Given the description of an element on the screen output the (x, y) to click on. 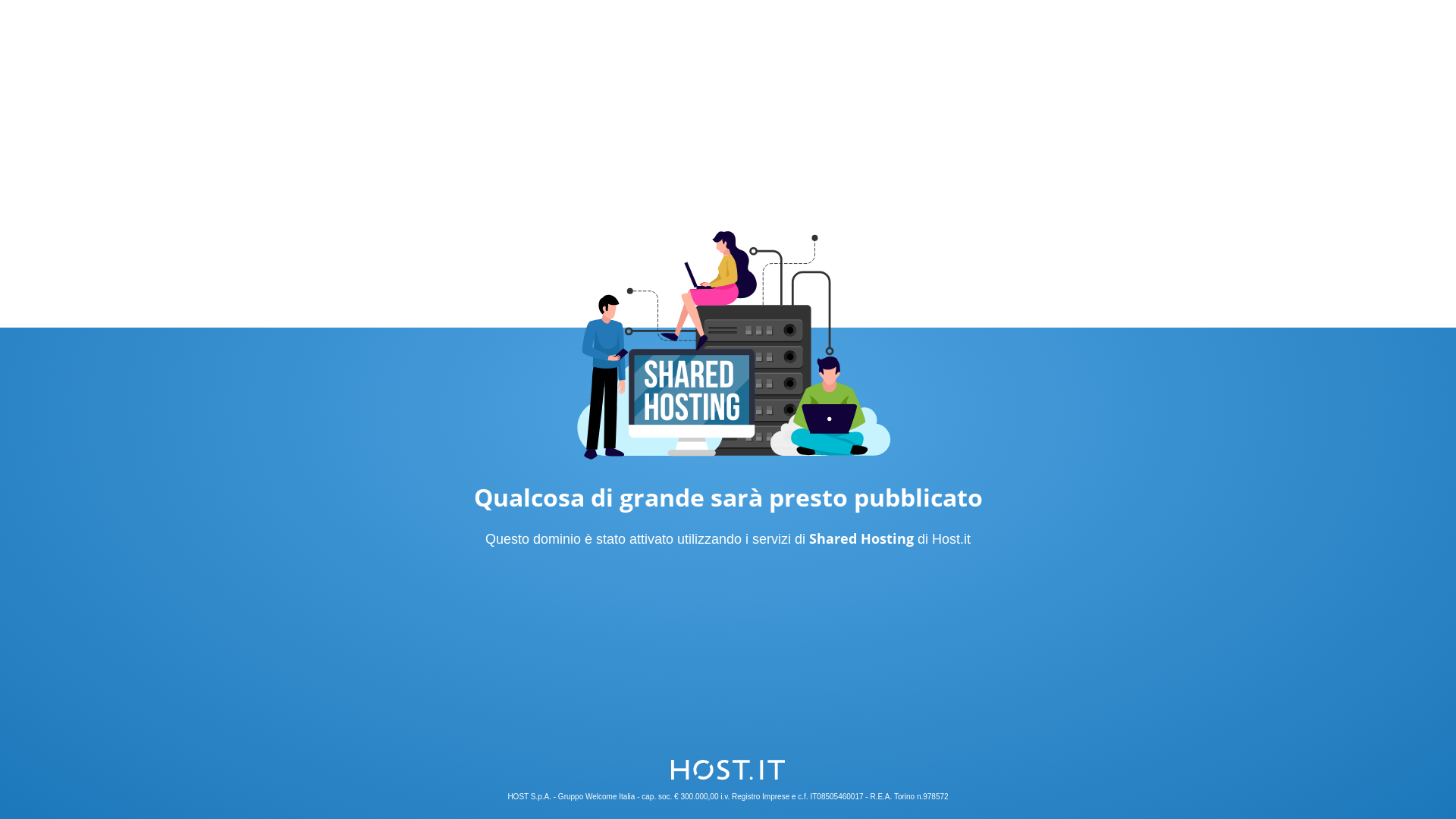
Shared Hosting Element type: text (861, 538)
